Given the description of an element on the screen output the (x, y) to click on. 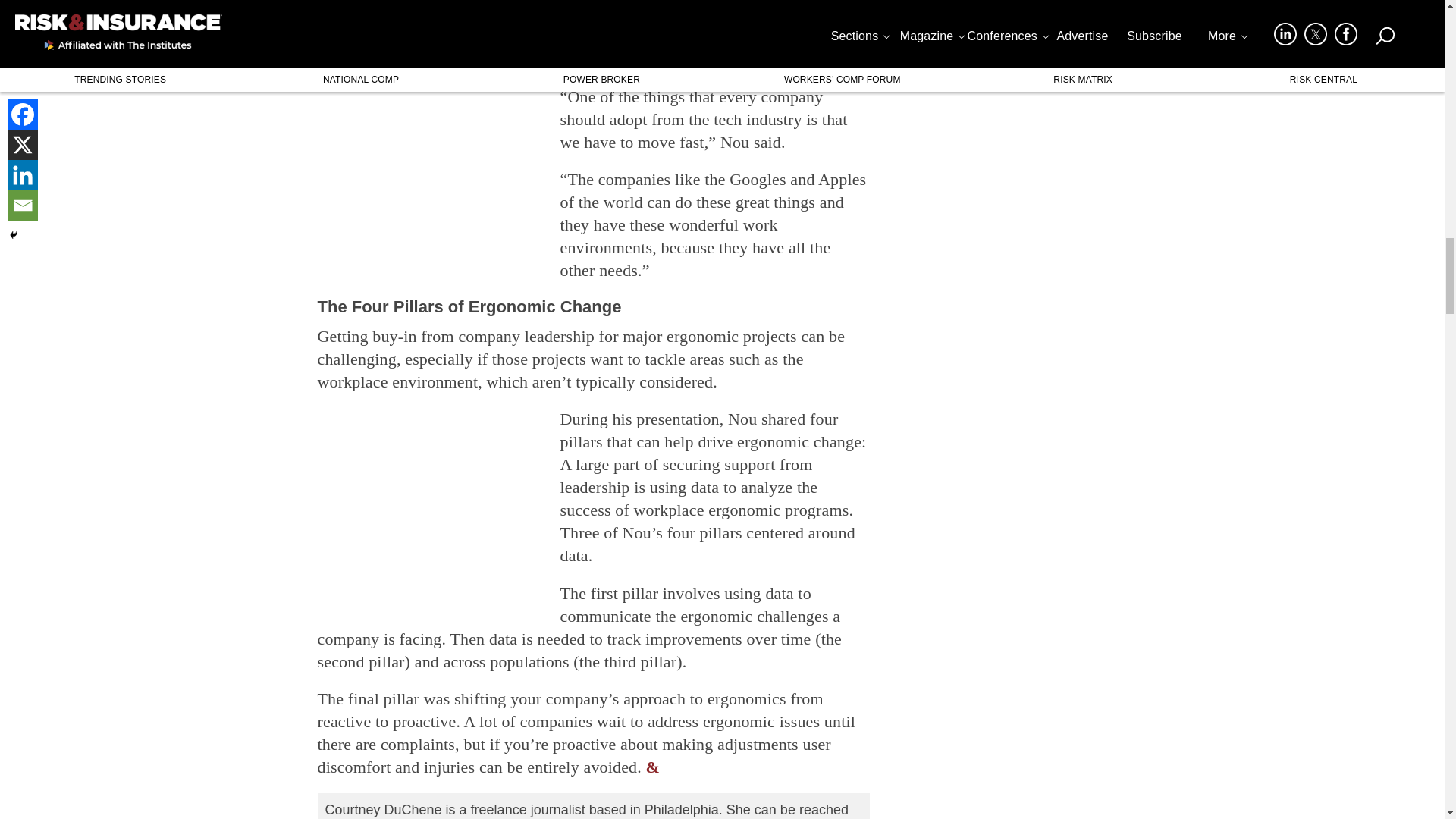
3rd party ad content (430, 180)
